Given the description of an element on the screen output the (x, y) to click on. 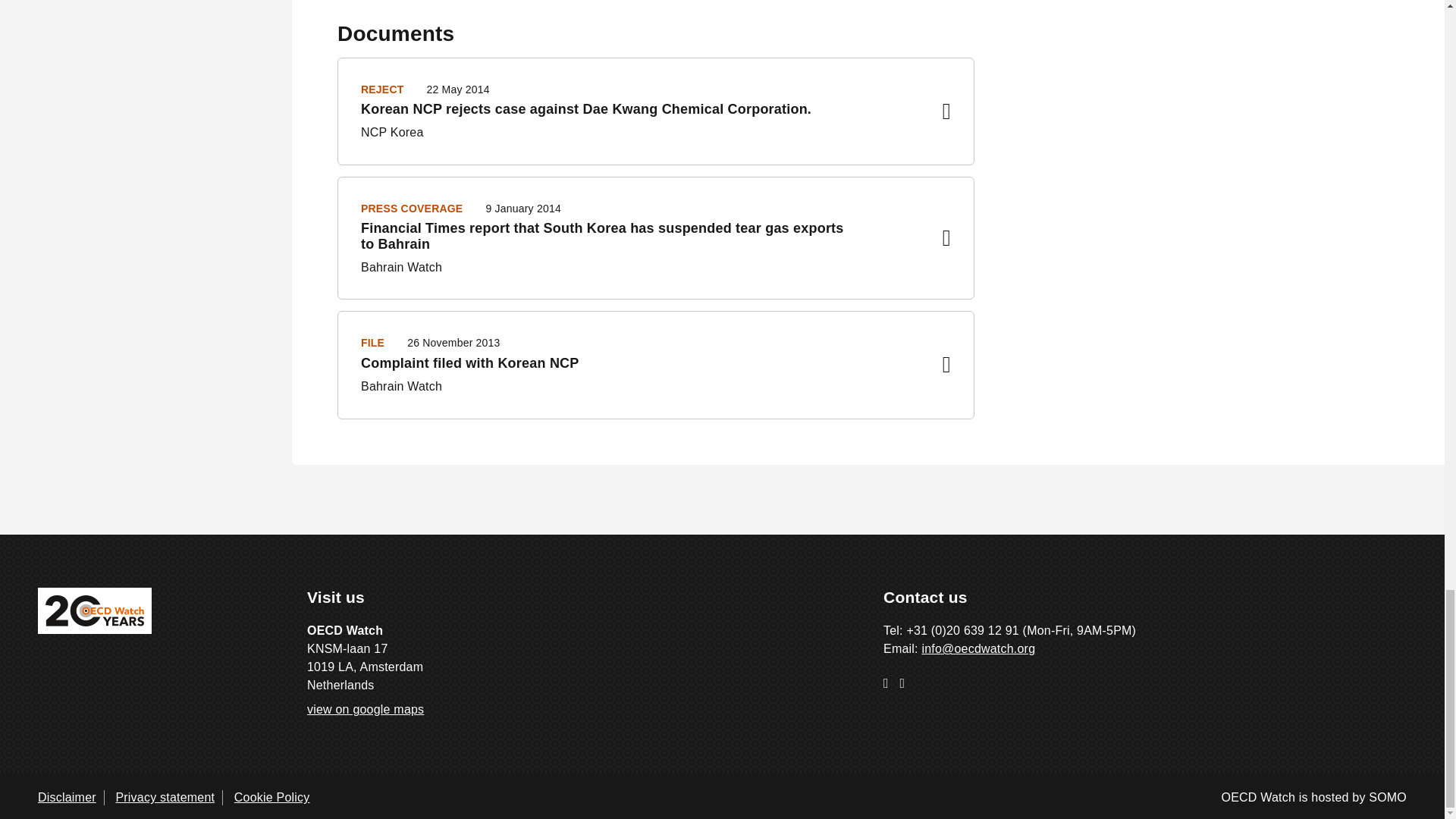
OECD Watch (94, 610)
